Given the description of an element on the screen output the (x, y) to click on. 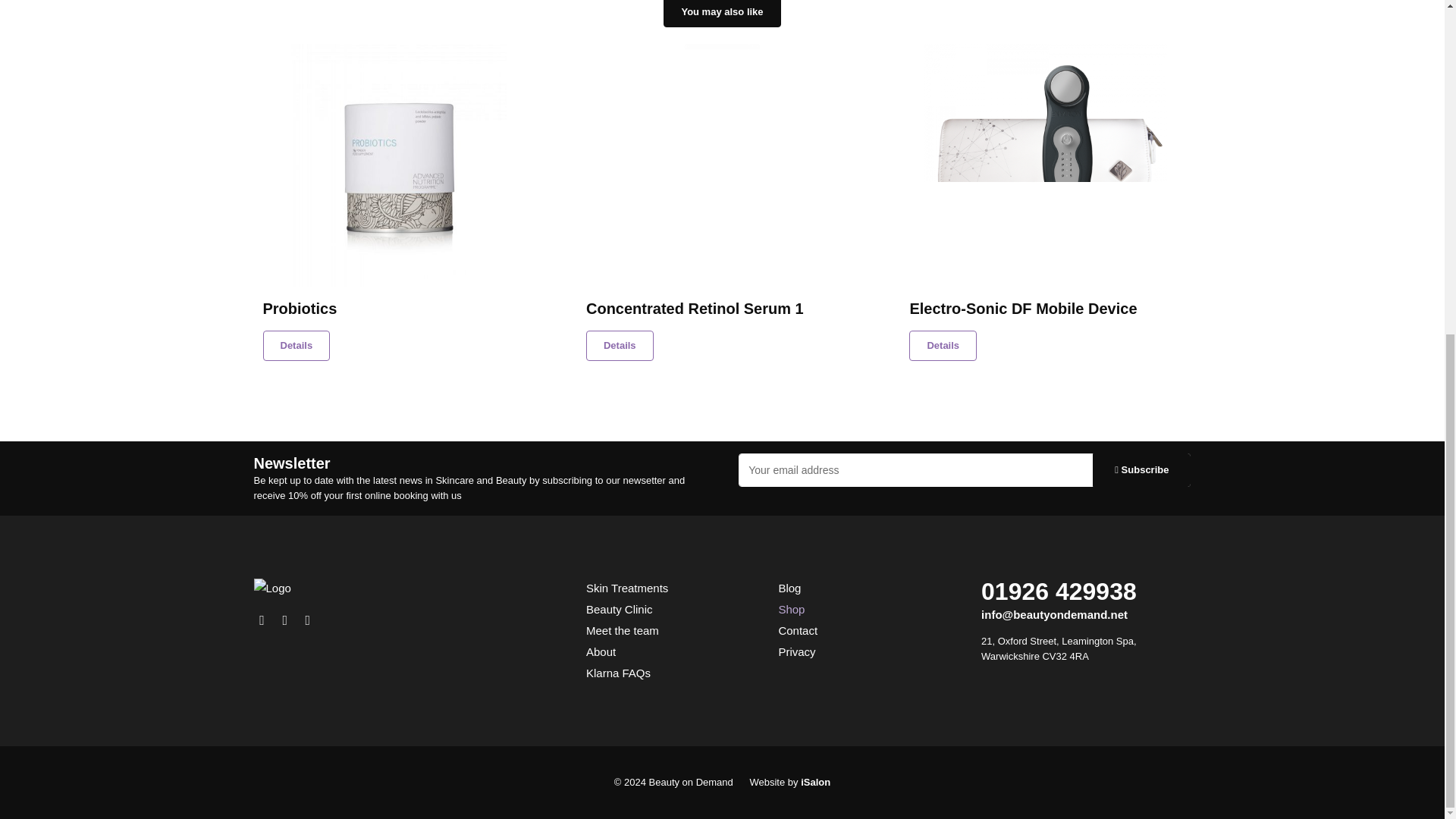
Electro-Sonic DF Mobile Device (1045, 165)
Concentrated Retinol Serum 1 (619, 345)
Probiotics (398, 308)
Probiotics (398, 165)
Concentrated Retinol Serum 1 (722, 308)
Shop (721, 13)
Concentrated Retinol Serum 1 (721, 165)
Probiotics (296, 345)
